Given the description of an element on the screen output the (x, y) to click on. 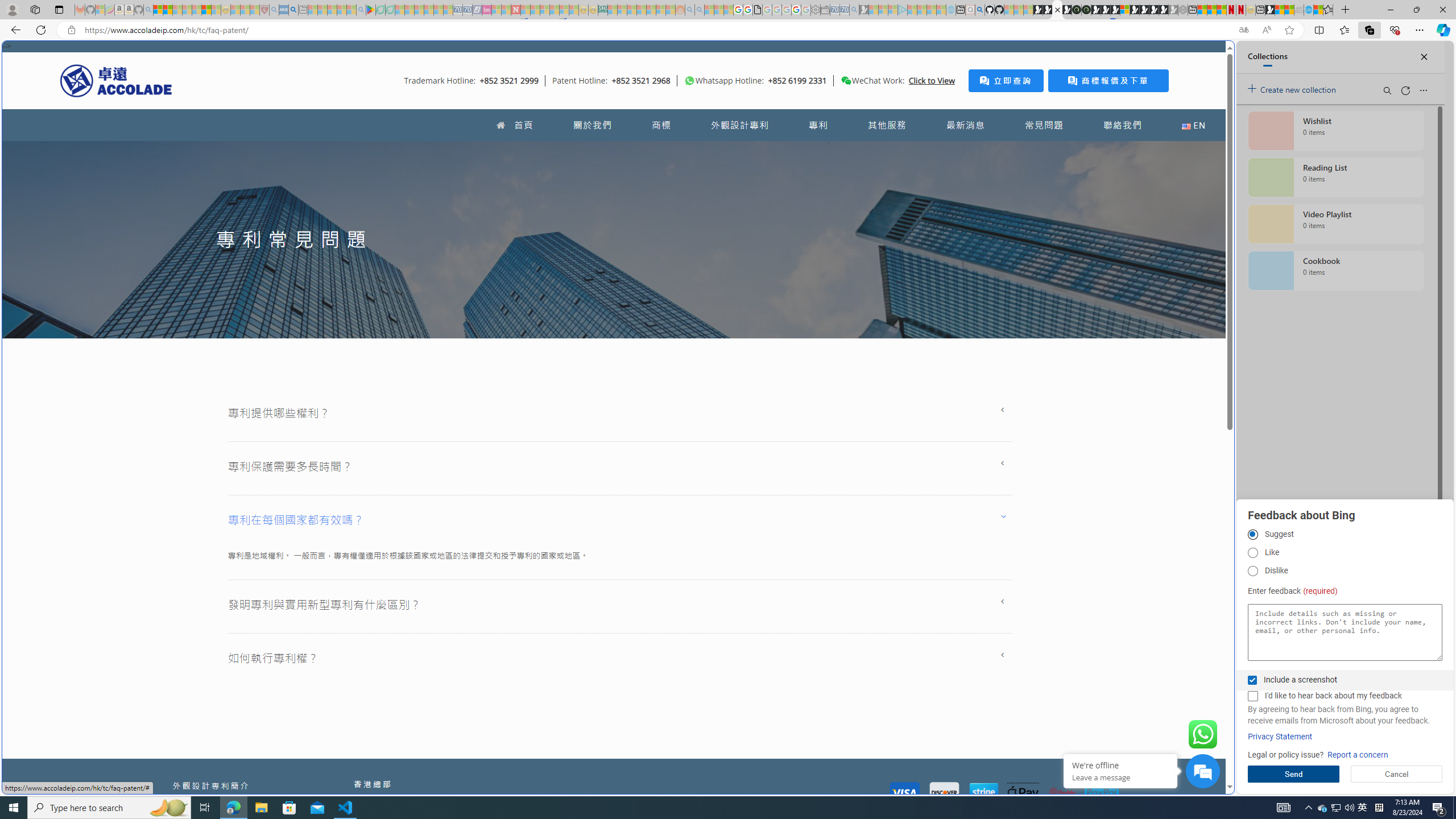
Send (1293, 773)
EN (1193, 124)
Services - Maintenance | Sky Blue Bikes - Sky Blue Bikes (1307, 9)
